Given the description of an element on the screen output the (x, y) to click on. 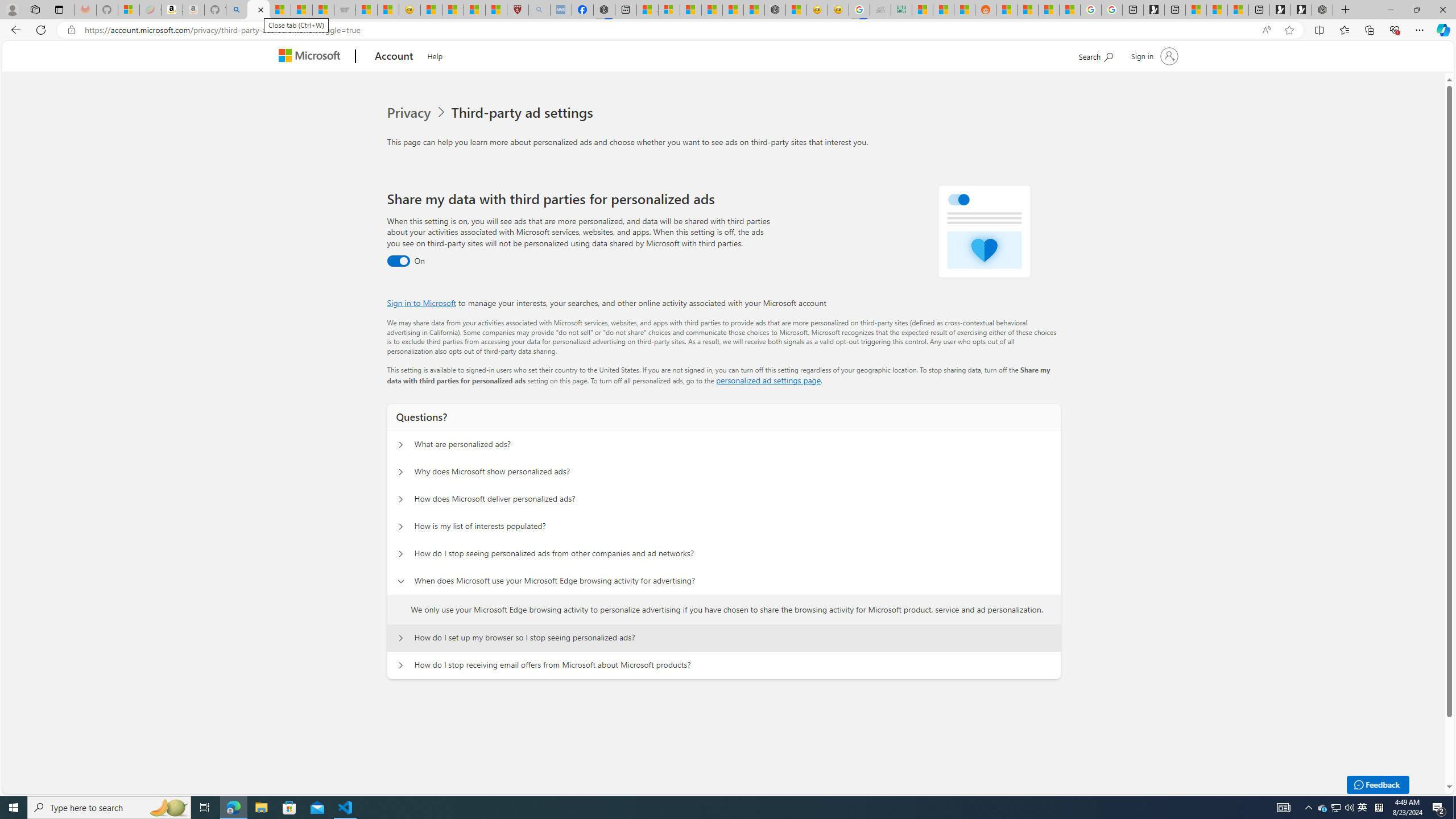
Search Microsoft.com (1095, 54)
Questions? Why does Microsoft show personalized ads? (401, 472)
R******* | Trusted Community Engagement and Contributions (1006, 9)
Questions? What are personalized ads? (401, 444)
Microsoft (311, 56)
